Given the description of an element on the screen output the (x, y) to click on. 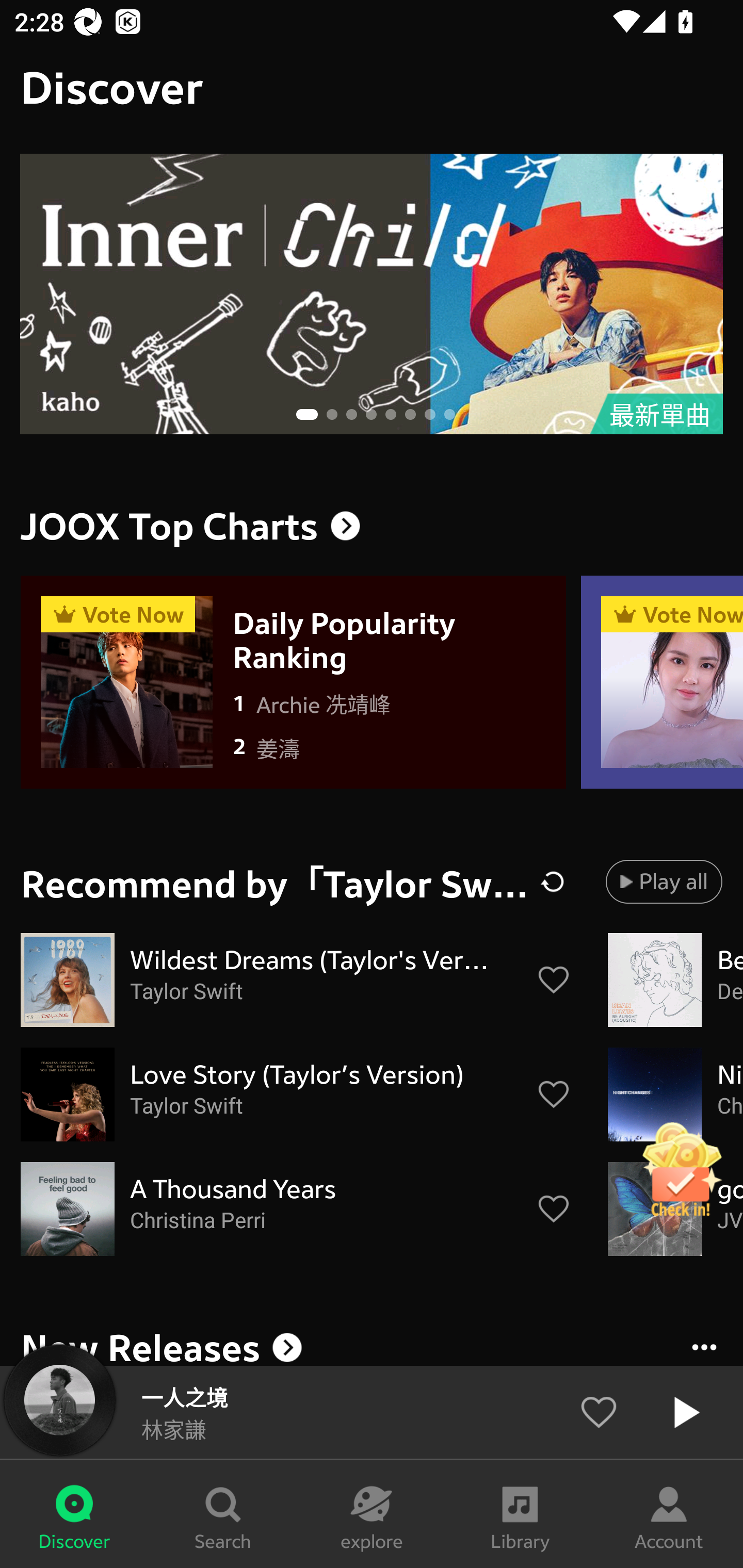
最新單曲   (371, 293)
JOOX Top Charts (371, 525)
Play all (663, 881)
Wildest Dreams (Taylor's Version) Taylor Swift (295, 979)
Love Story (Taylor’s Version) Taylor Swift (295, 1094)
A Thousand Years Christina Perri (295, 1208)
一人之境 林家謙 (371, 1412)
Search (222, 1513)
explore (371, 1513)
Library (519, 1513)
Account (668, 1513)
